Given the description of an element on the screen output the (x, y) to click on. 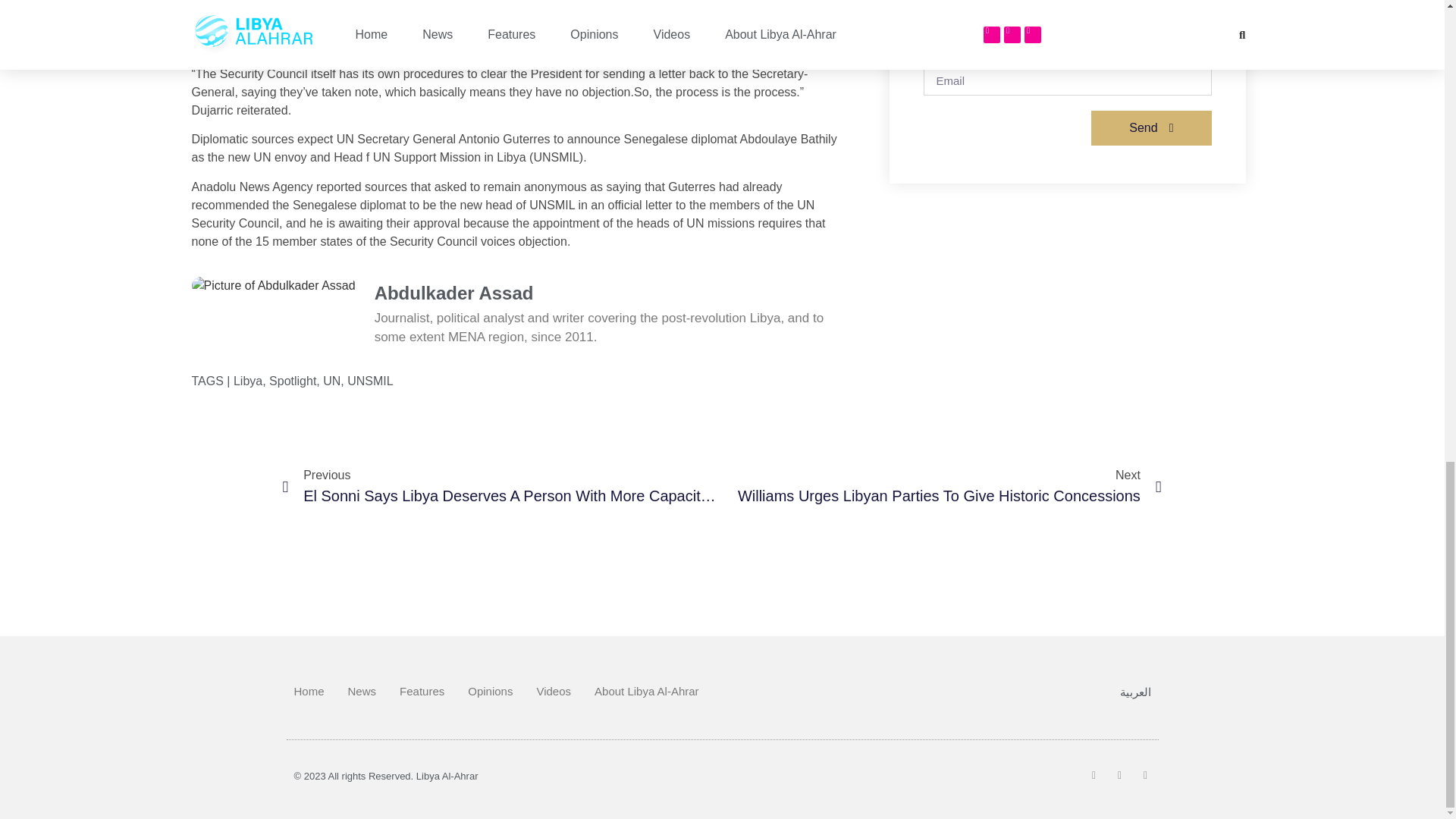
UN (331, 380)
Spotlight (292, 380)
Libya (247, 380)
UNSMIL (370, 380)
